Given the description of an element on the screen output the (x, y) to click on. 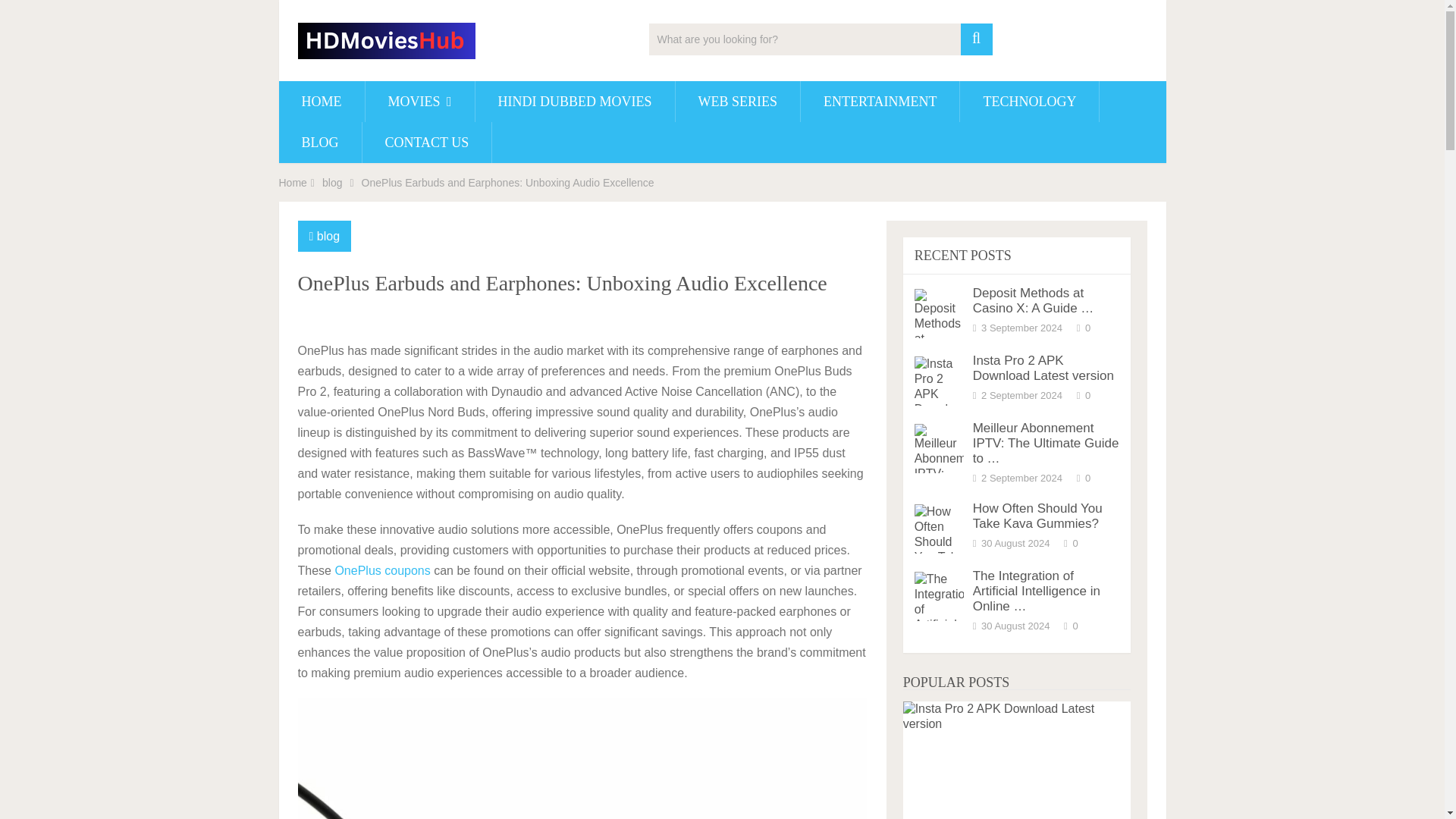
Home (293, 182)
HOME (322, 101)
View all posts in blog (328, 236)
blog (328, 236)
WEB SERIES (737, 101)
OnePlus coupons (381, 570)
blog (331, 182)
ENTERTAINMENT (879, 101)
MOVIES (419, 101)
CONTACT US (427, 142)
